Given the description of an element on the screen output the (x, y) to click on. 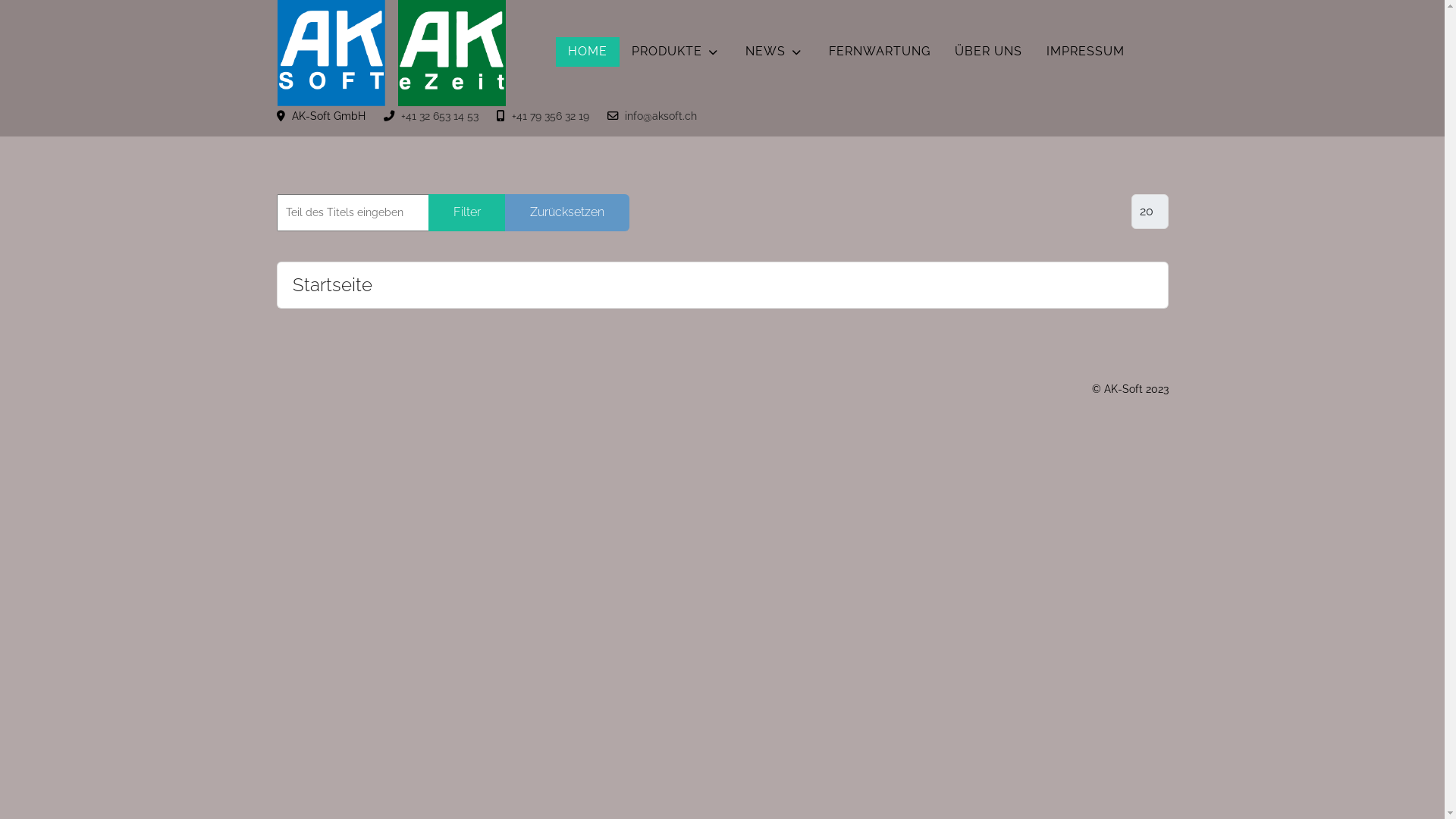
FERNWARTUNG Element type: text (878, 51)
info@aksoft.ch Element type: text (660, 115)
IMPRESSUM Element type: text (1085, 51)
PRODUKTE Element type: text (675, 51)
HOME Element type: text (586, 51)
LinkedIn Element type: hover (1130, 22)
Facebook Element type: hover (1072, 22)
NEWS Element type: text (773, 51)
Filter Element type: text (466, 212)
YouTube Element type: hover (1160, 22)
+41 79 356 32 19 Element type: text (549, 115)
+41 32 653 14 53 Element type: text (438, 115)
Twitter Element type: hover (1101, 22)
Startseite Element type: text (332, 284)
